Given the description of an element on the screen output the (x, y) to click on. 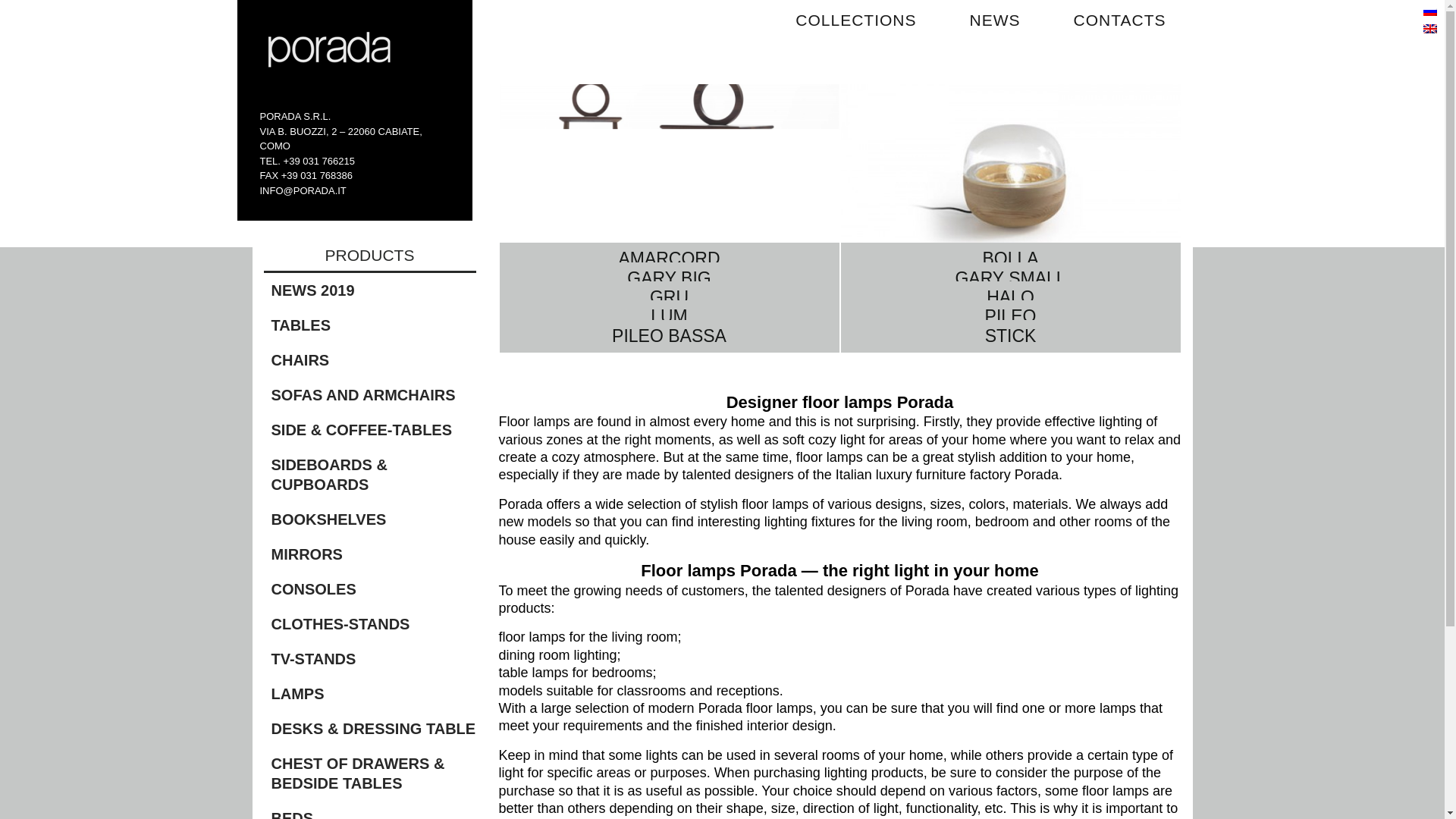
LAMPS (373, 693)
BOLLA (1009, 179)
COLLECTIONS (855, 20)
NEWS (995, 20)
TABLES (373, 324)
BOOKSHELVES (373, 519)
GARY SMALL (1009, 285)
CLOTHES-STANDS (373, 623)
PRODUCTS (369, 259)
LUM (668, 323)
